Given the description of an element on the screen output the (x, y) to click on. 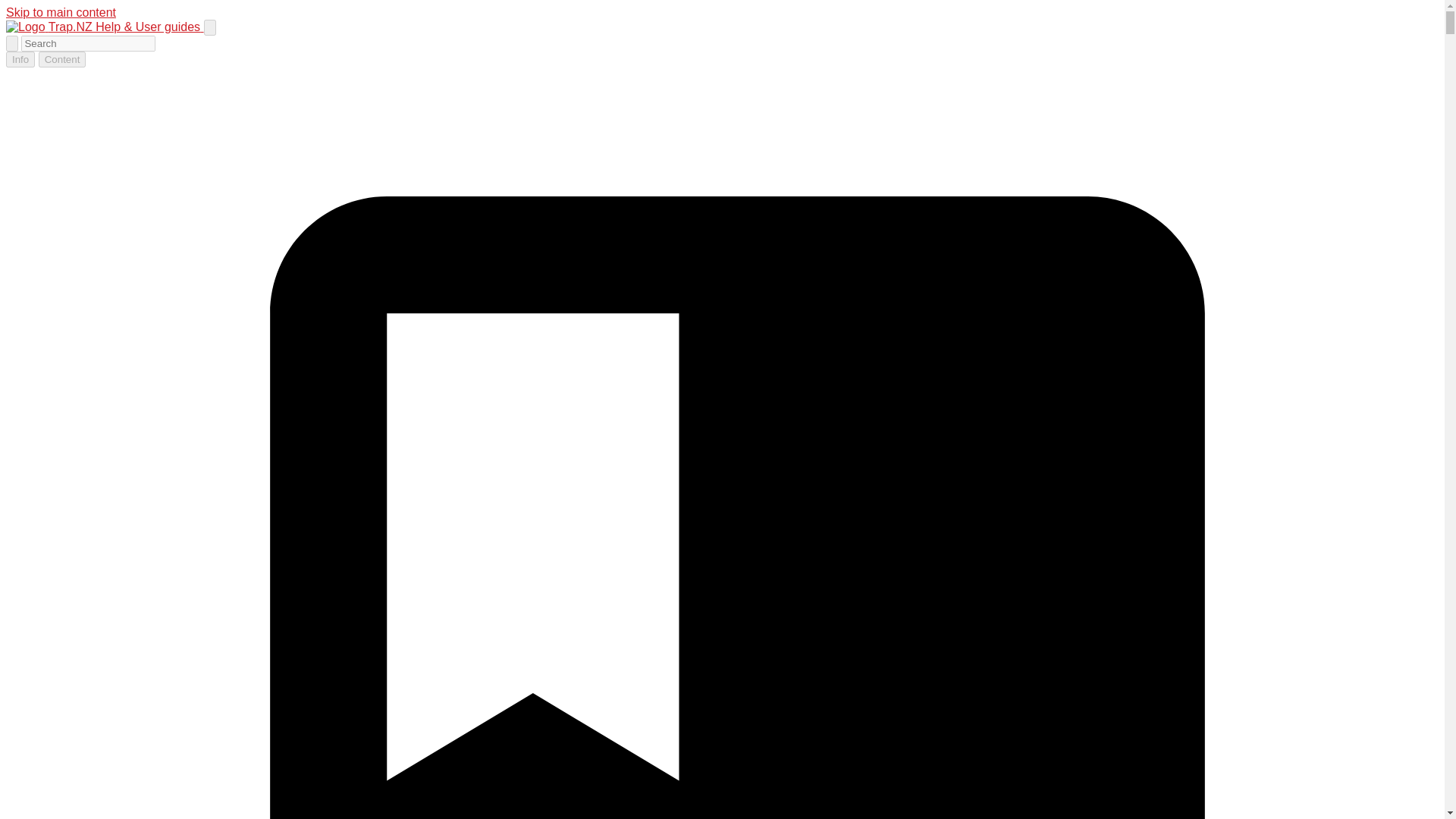
Skip to main content (60, 11)
Content (62, 59)
Info (19, 59)
